Given the description of an element on the screen output the (x, y) to click on. 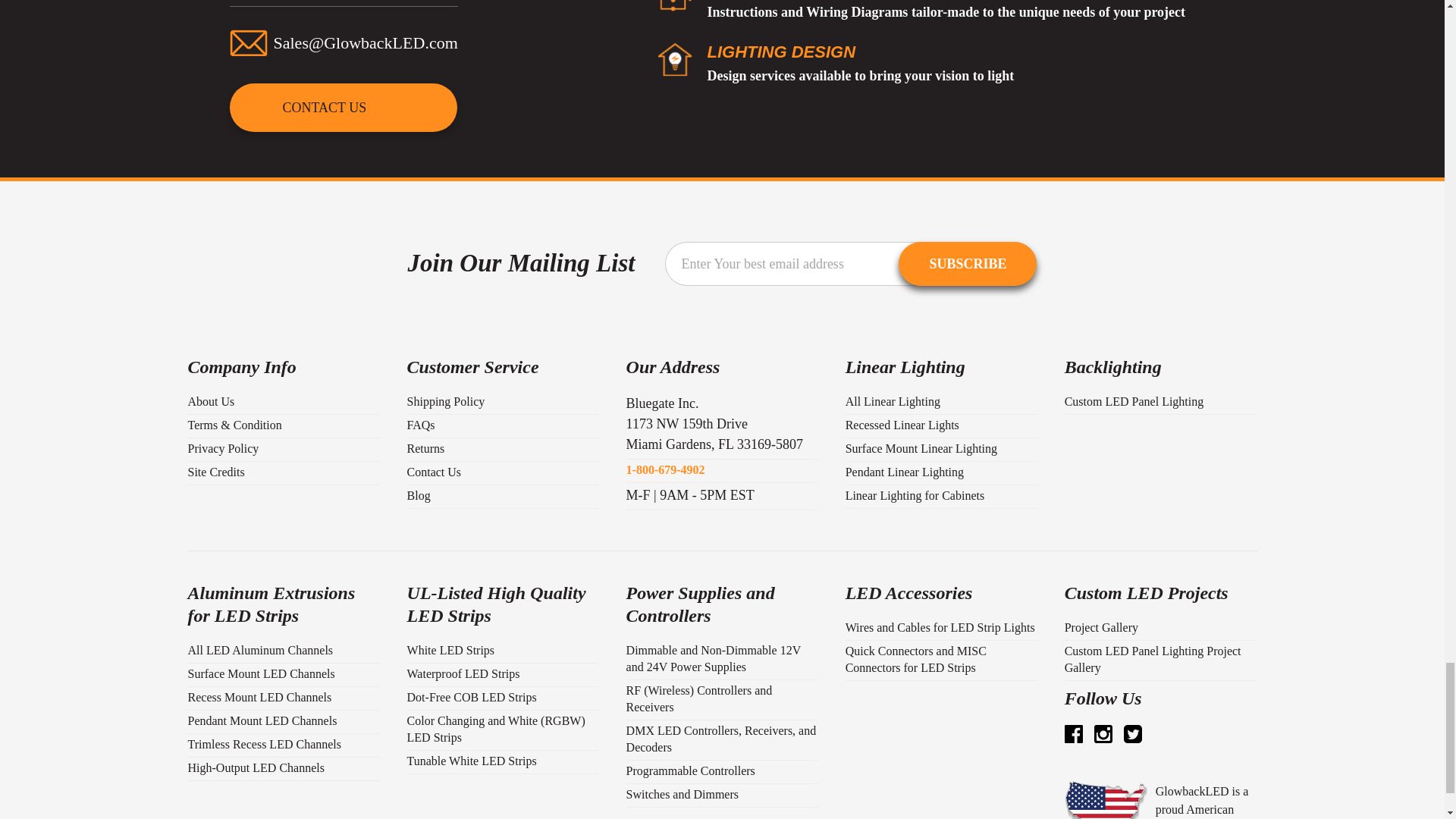
Subscribe (967, 263)
